Given the description of an element on the screen output the (x, y) to click on. 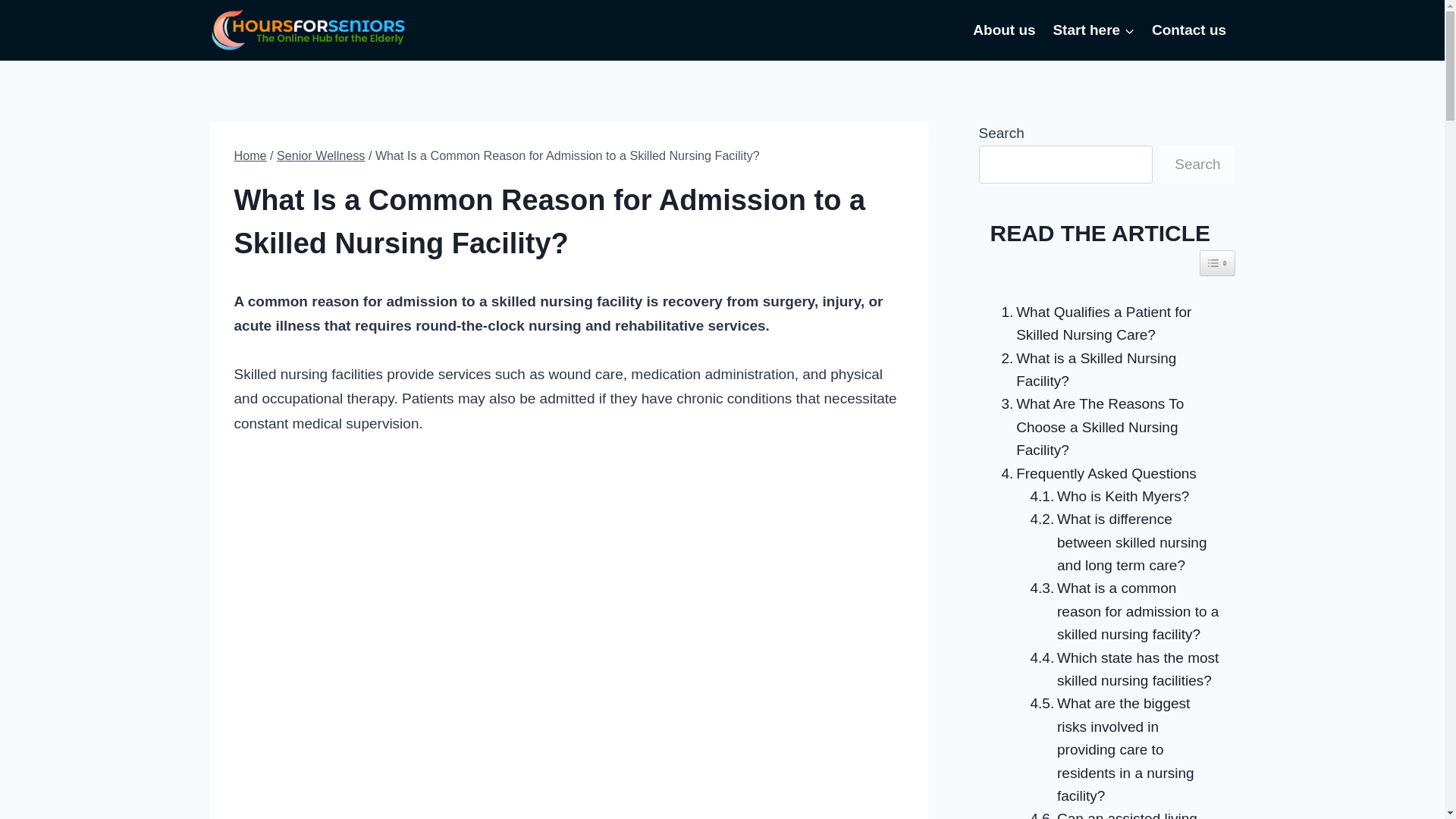
Home (249, 155)
What is a Skilled Nursing Facility? (1106, 370)
Contact us (1188, 30)
What Qualifies a Patient for Skilled Nursing Care? (1106, 324)
What is a Skilled Nursing Facility? (1106, 370)
About us (1003, 30)
Search (1197, 163)
What Qualifies a Patient for Skilled Nursing Care? (1106, 324)
Senior Wellness (320, 155)
Which state has the most skilled nursing facilities? (1121, 669)
TOGGLE TABLE OF CONTENT (1216, 263)
What Are The Reasons To Choose a Skilled Nursing Facility? (1106, 427)
